Given the description of an element on the screen output the (x, y) to click on. 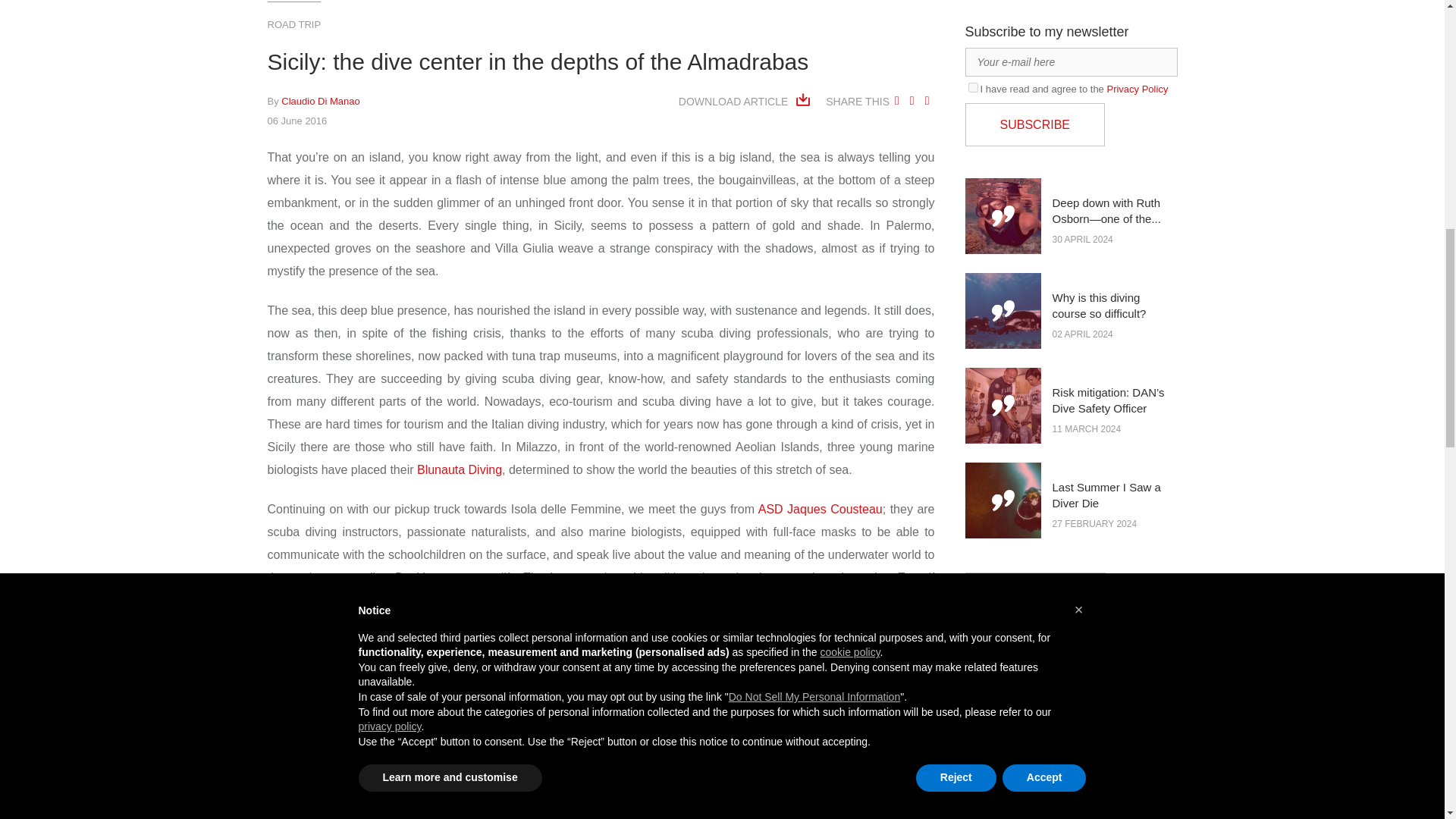
on (972, 87)
Claudio Di Manao (320, 101)
SHARE THIS (857, 101)
ROAD TRIP (293, 24)
